Given the description of an element on the screen output the (x, y) to click on. 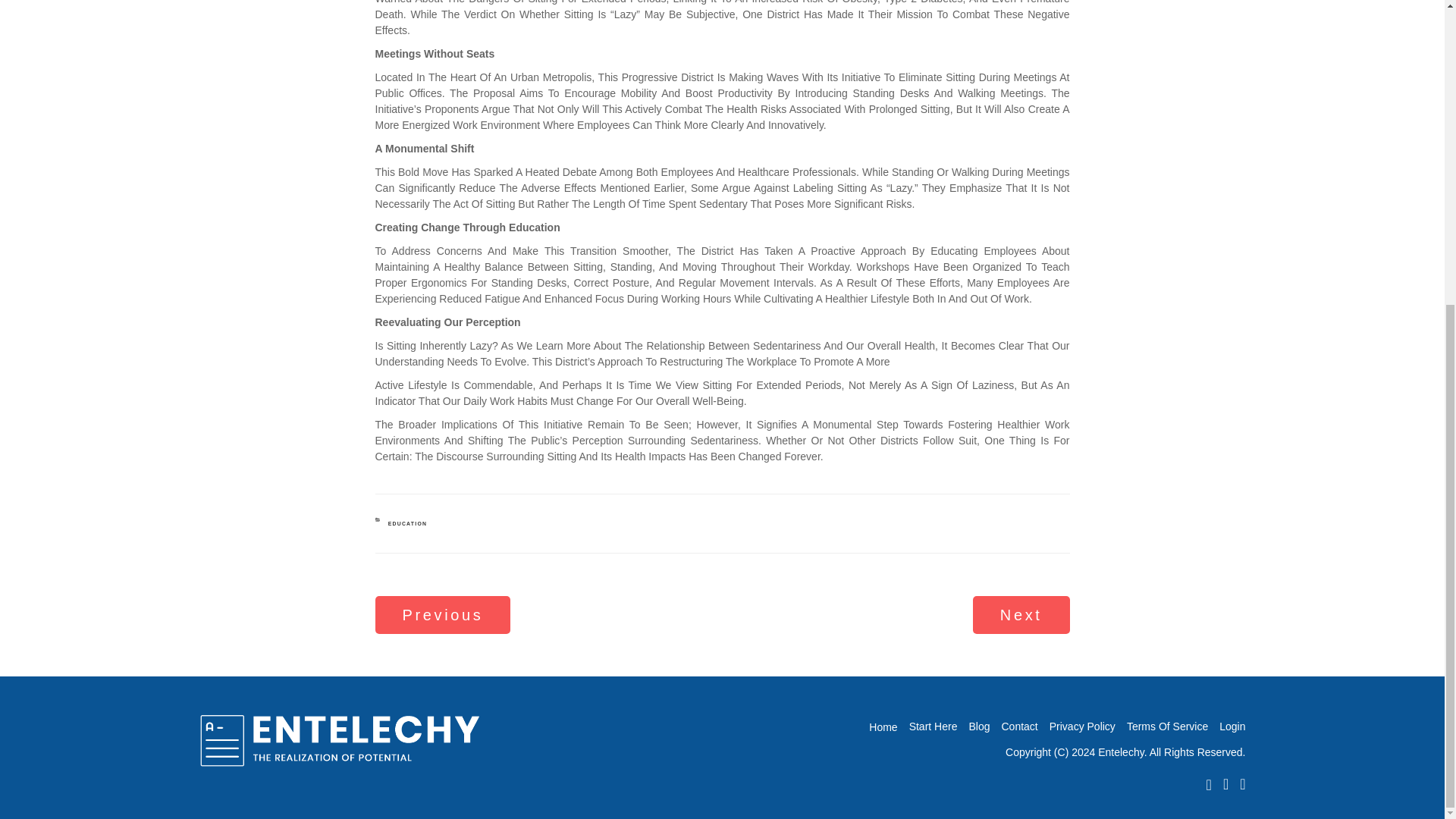
Start Here (442, 616)
EDUCATION (933, 726)
Terms Of Service (408, 523)
Login (1167, 726)
Privacy Policy (1232, 726)
Blog (1082, 726)
Home (979, 726)
Contact (882, 727)
